Given the description of an element on the screen output the (x, y) to click on. 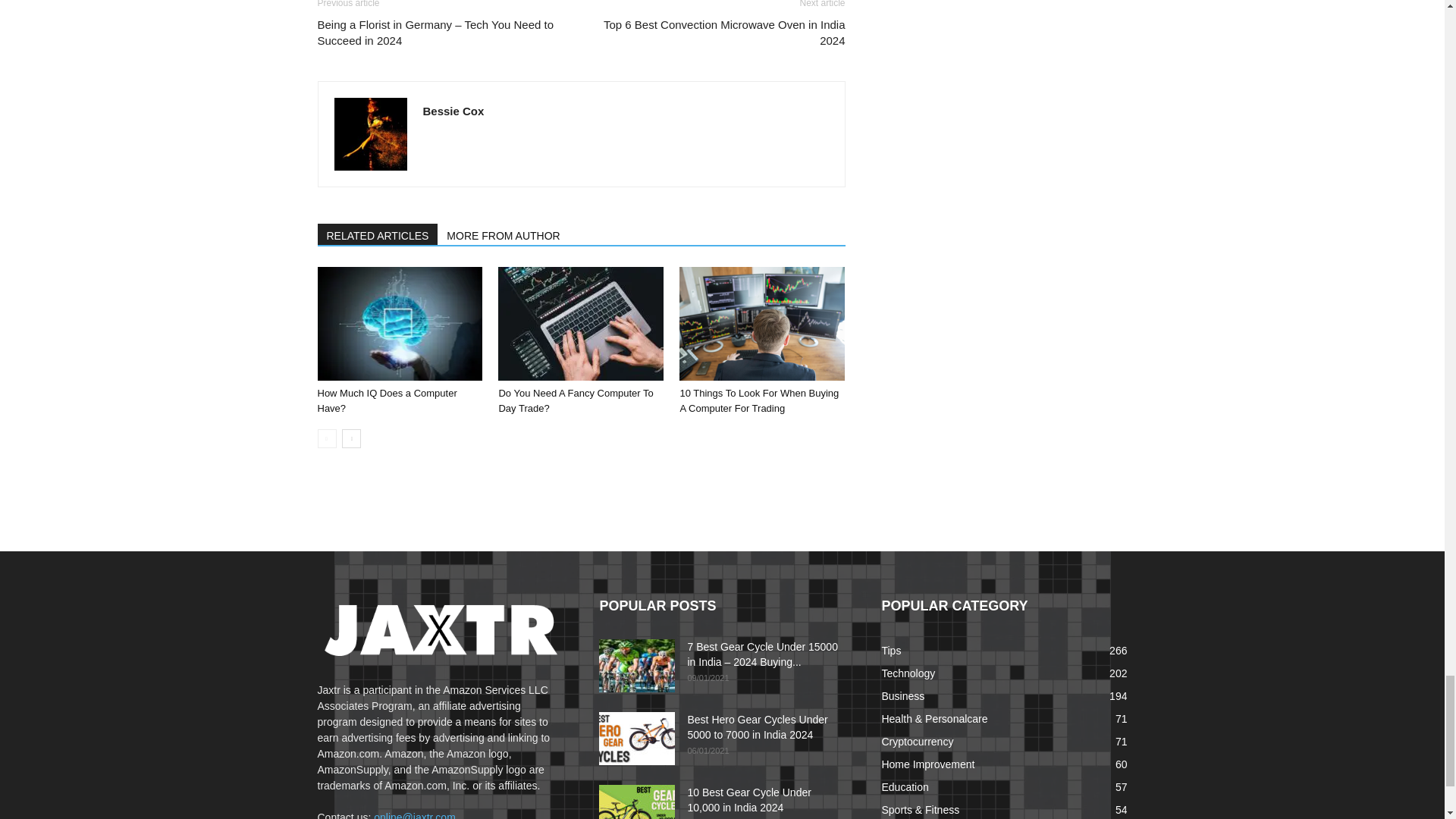
Do You Need A Fancy Computer To Day Trade? (580, 323)
How Much IQ Does a Computer Have? (387, 400)
How Much IQ Does a Computer Have? (399, 323)
